Given the description of an element on the screen output the (x, y) to click on. 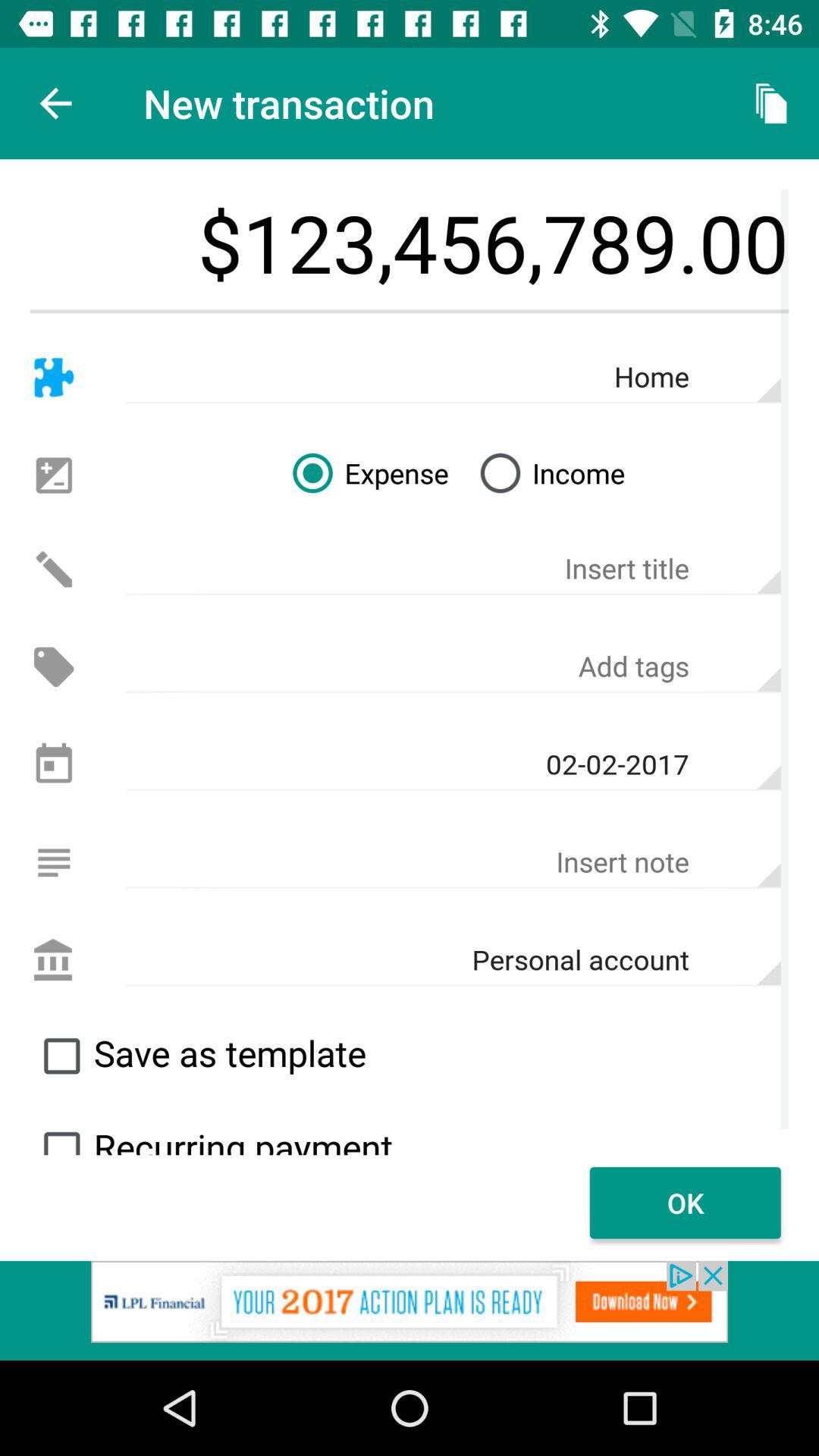
options to add tags (452, 666)
